Given the description of an element on the screen output the (x, y) to click on. 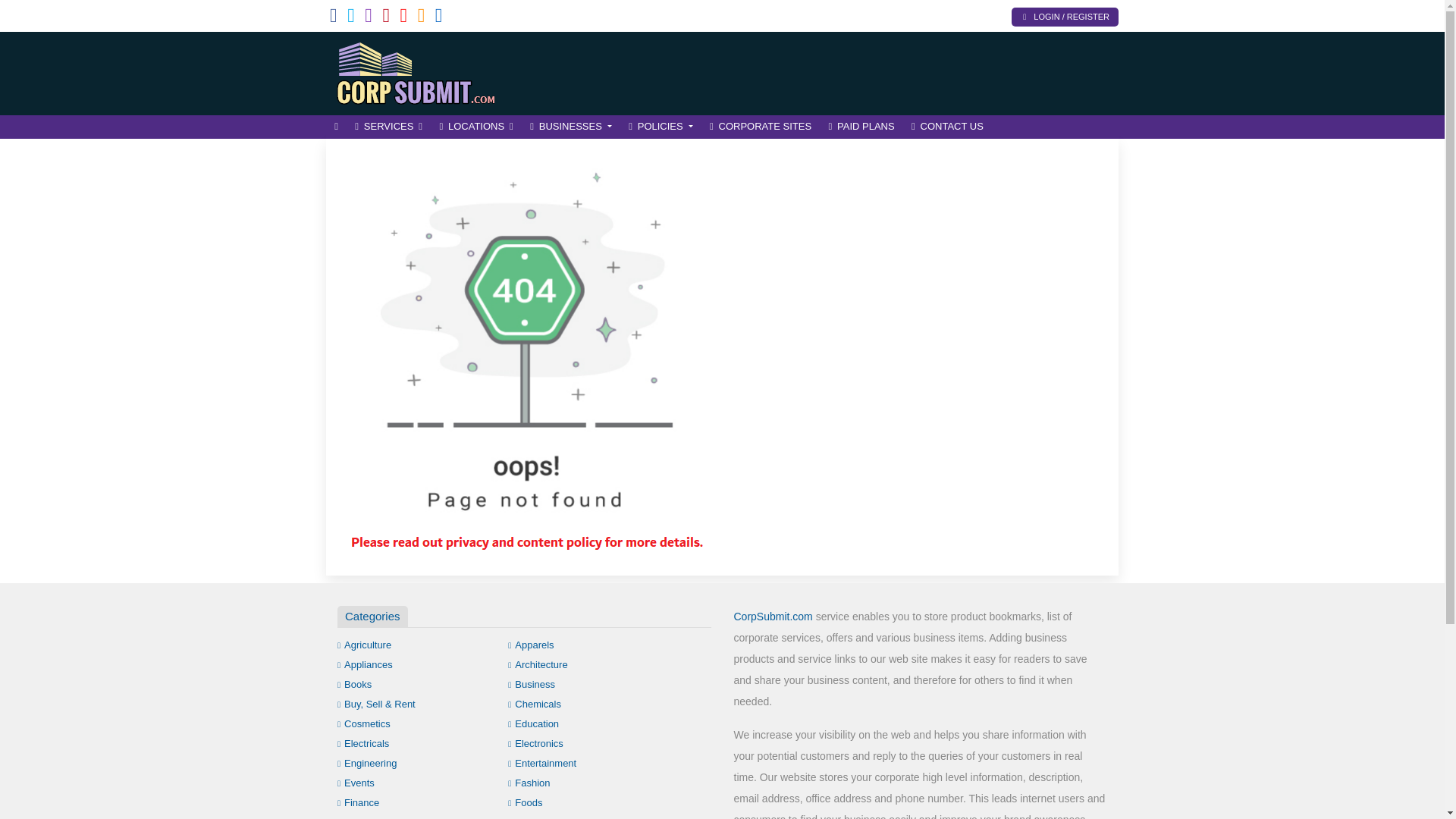
Corporate Bookmarking Service for Website Visitors Traffic (428, 71)
SERVICES (388, 126)
LOCATIONS (475, 126)
